Given the description of an element on the screen output the (x, y) to click on. 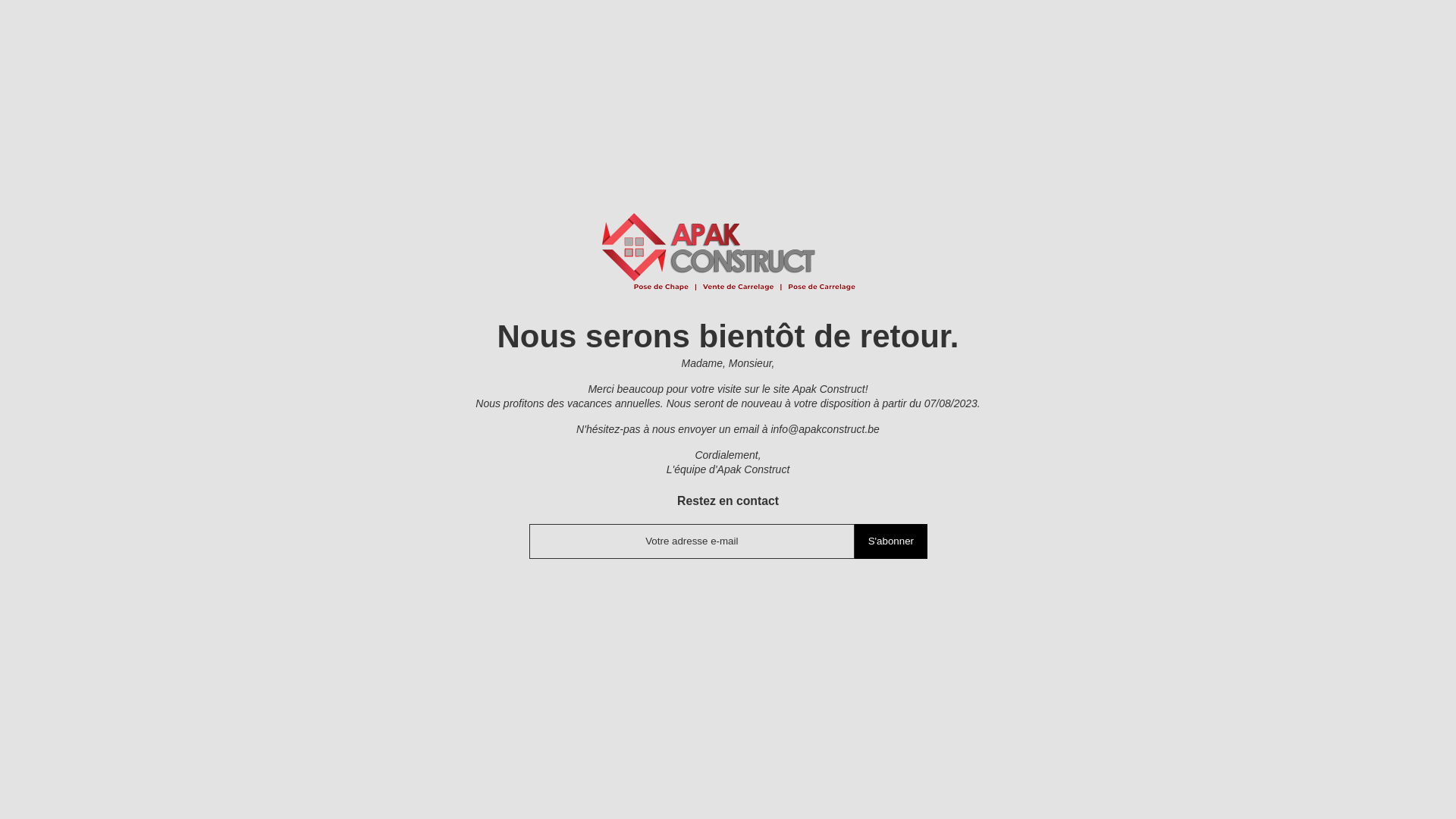
S'abonner Element type: text (890, 541)
